Given the description of an element on the screen output the (x, y) to click on. 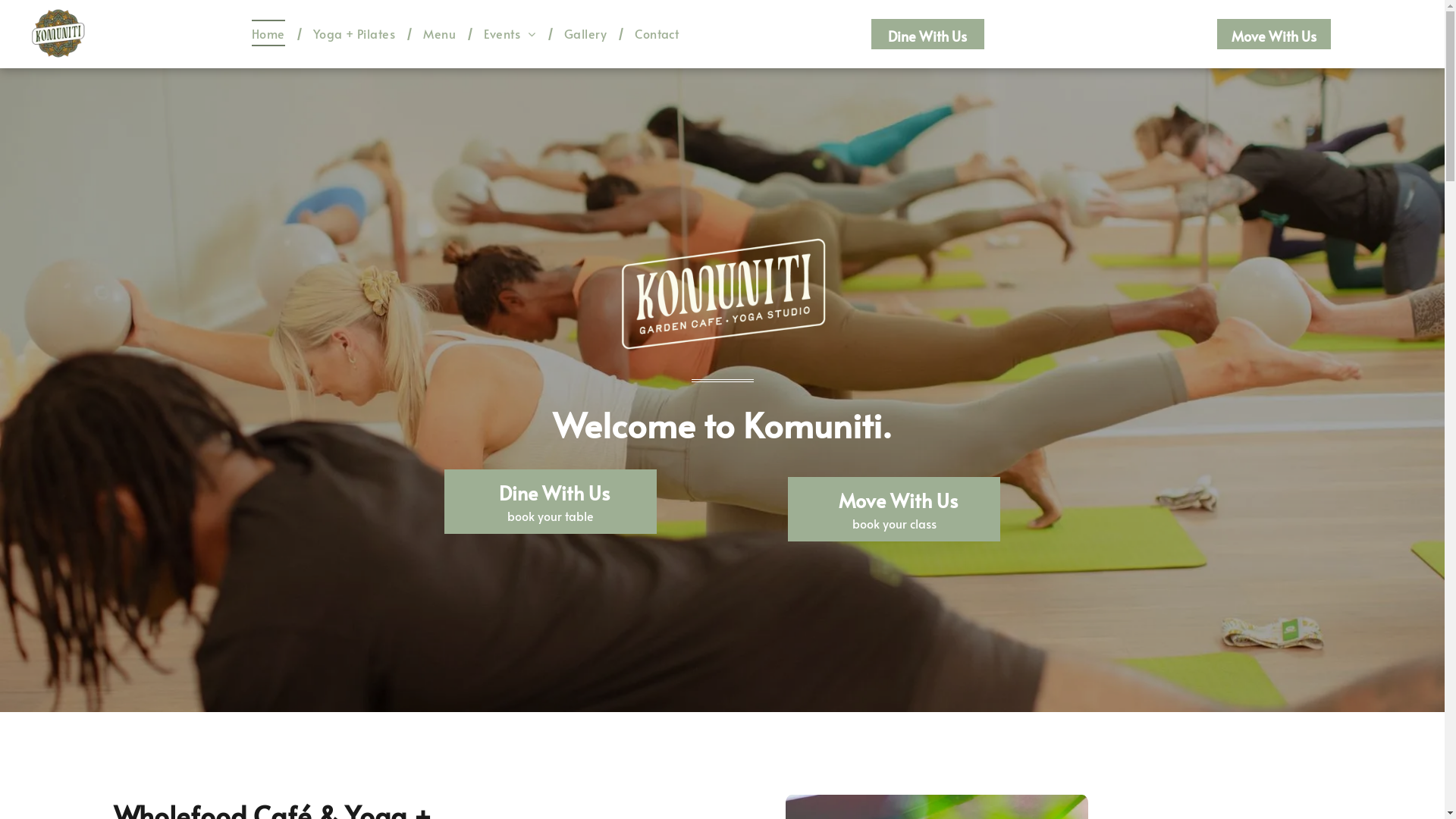
Dine With Us
book your table Element type: text (550, 500)
Dine With Us Element type: text (927, 33)
Gallery Element type: text (585, 32)
Yoga + Pilates Element type: text (354, 32)
Move With Us Element type: text (1273, 33)
Home Element type: text (268, 32)
Events Element type: text (509, 32)
Move With Us
book your class Element type: text (893, 508)
Contact Element type: text (656, 32)
Menu Element type: text (439, 32)
